Given the description of an element on the screen output the (x, y) to click on. 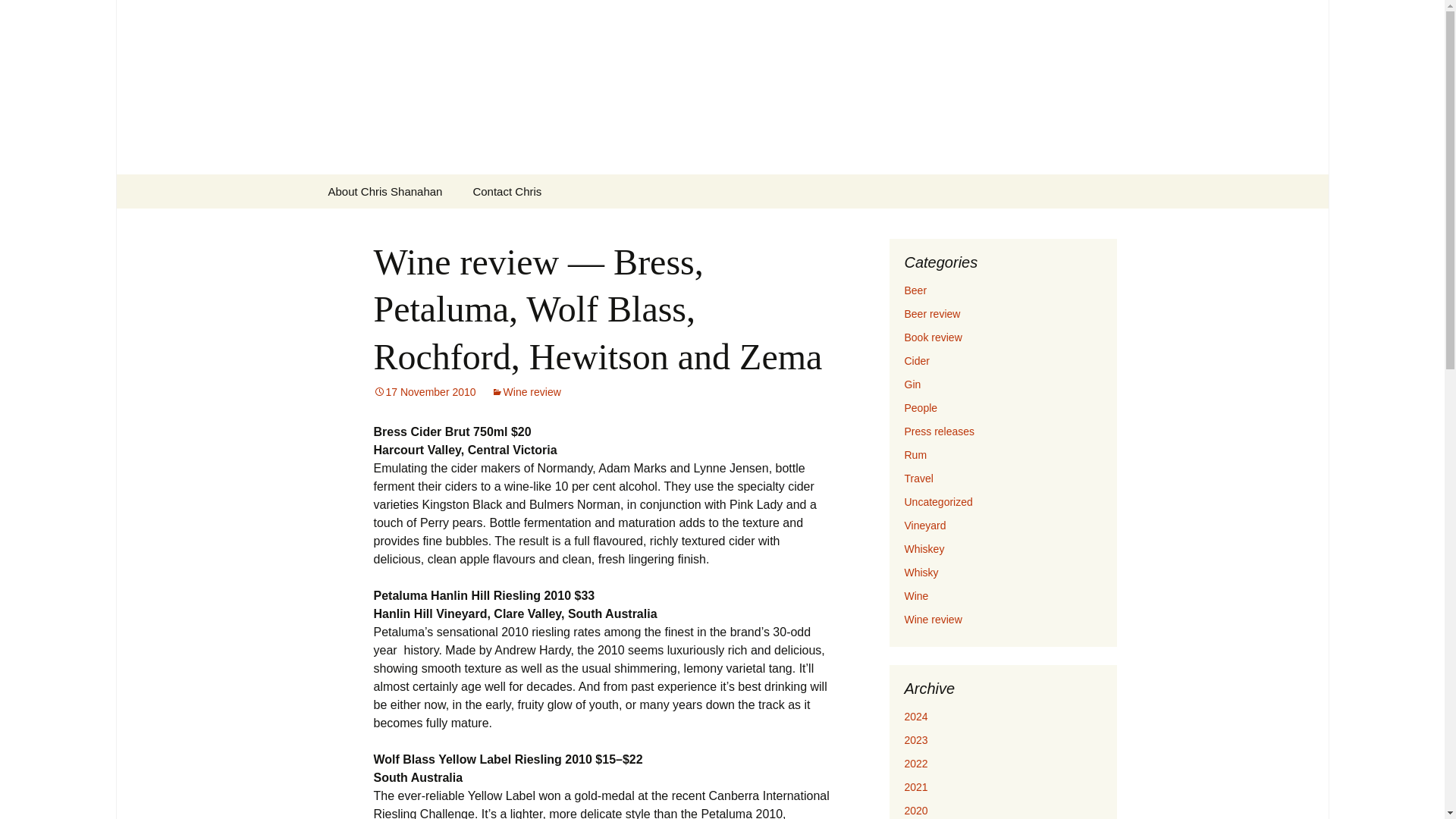
2020 (915, 810)
Travel (918, 478)
Press releases (939, 431)
2023 (915, 739)
Gin (912, 384)
2022 (915, 763)
Uncategorized (938, 501)
2024 (915, 716)
Cider (916, 360)
Wine (916, 595)
